Given the description of an element on the screen output the (x, y) to click on. 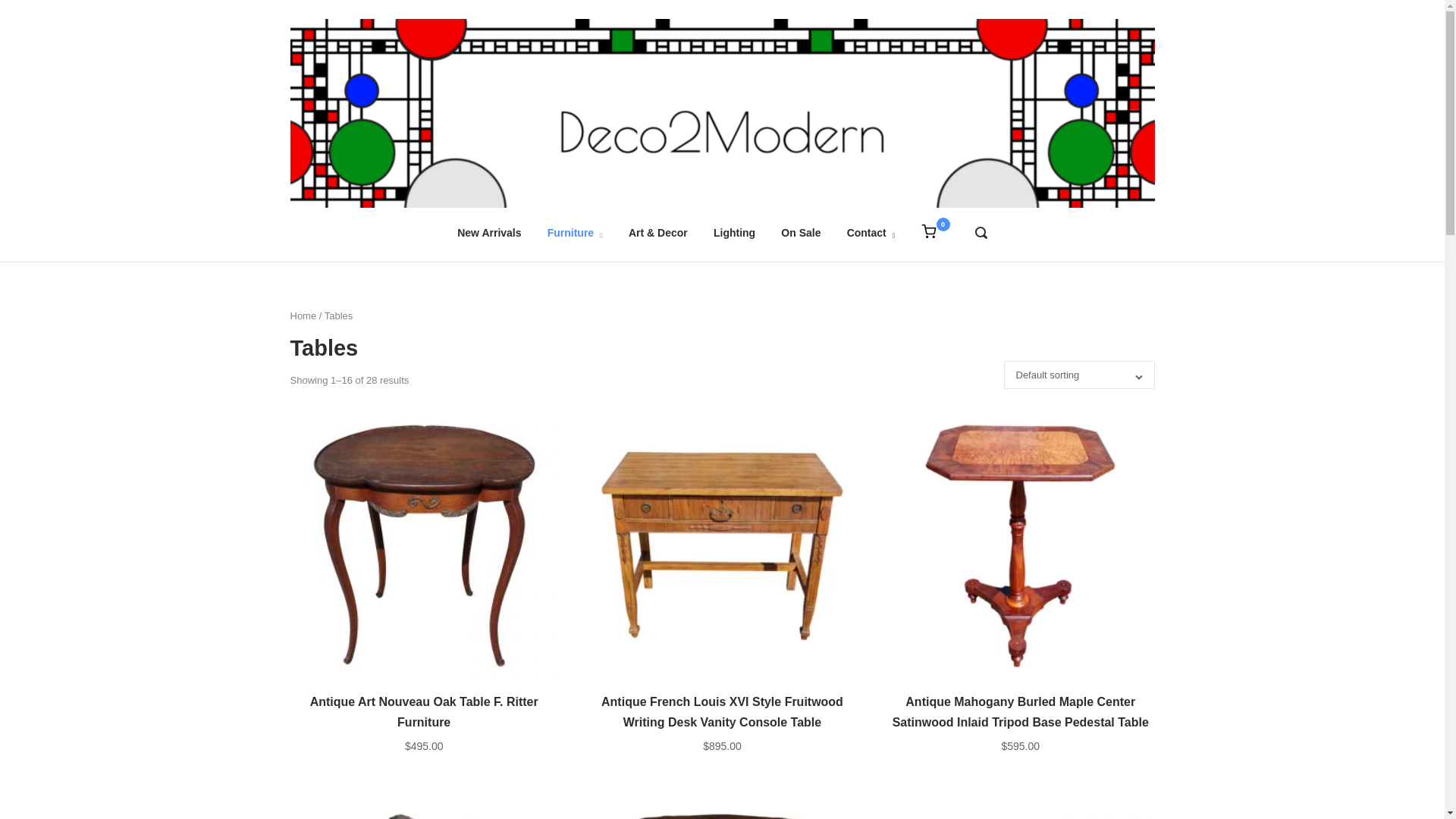
Lighting (734, 232)
Antique Art Nouveau Oak Table F. Ritter Furniture (423, 712)
Home (721, 111)
On Sale (800, 232)
New Arrivals (489, 232)
Contact (871, 232)
View shopping cart (928, 231)
Furniture (574, 232)
Home (928, 231)
